Given the description of an element on the screen output the (x, y) to click on. 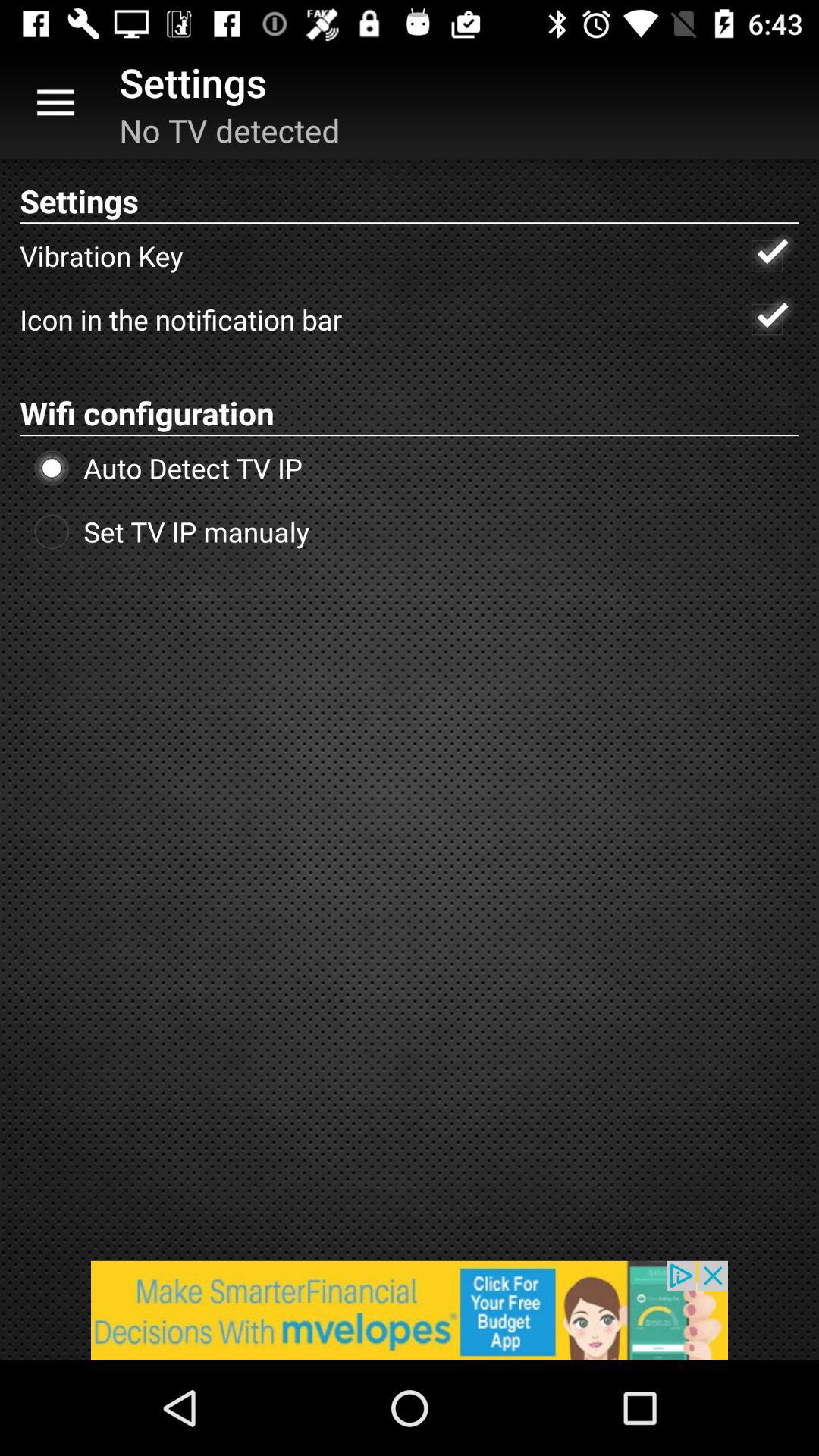
add icon to notification bar (767, 319)
